Given the description of an element on the screen output the (x, y) to click on. 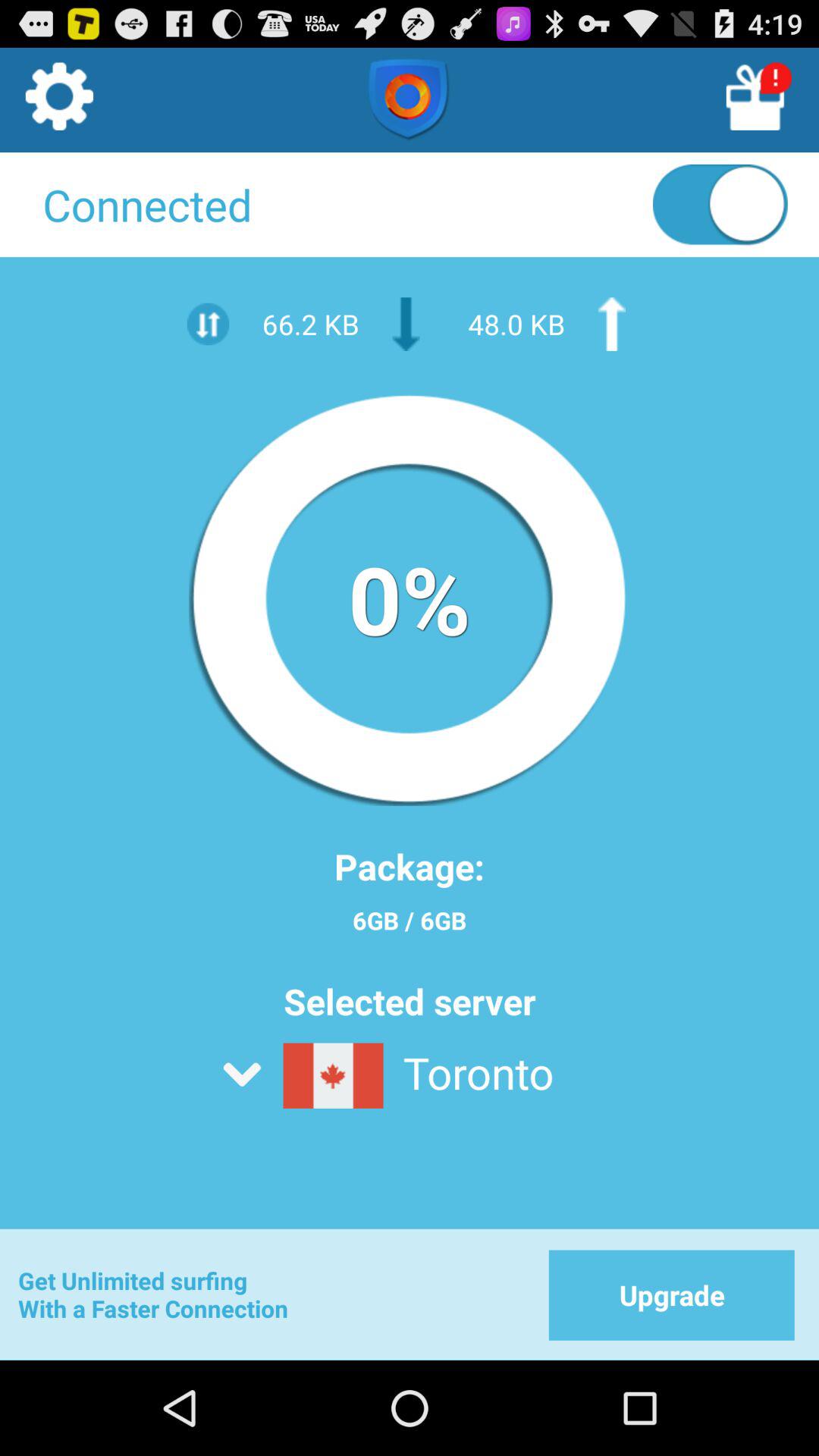
go to settings (57, 100)
